Given the description of an element on the screen output the (x, y) to click on. 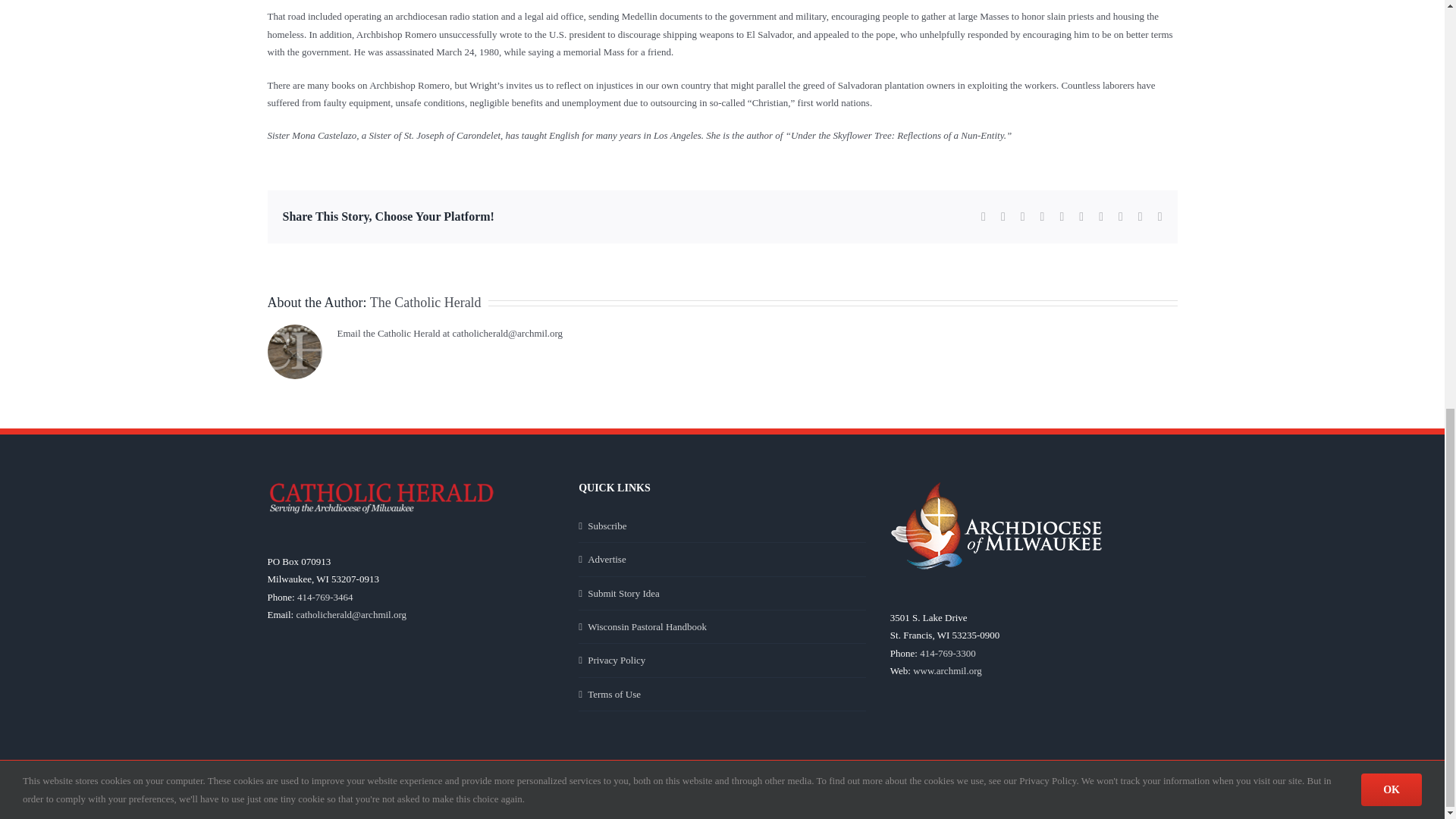
Posts by The Catholic Herald (425, 302)
